Given the description of an element on the screen output the (x, y) to click on. 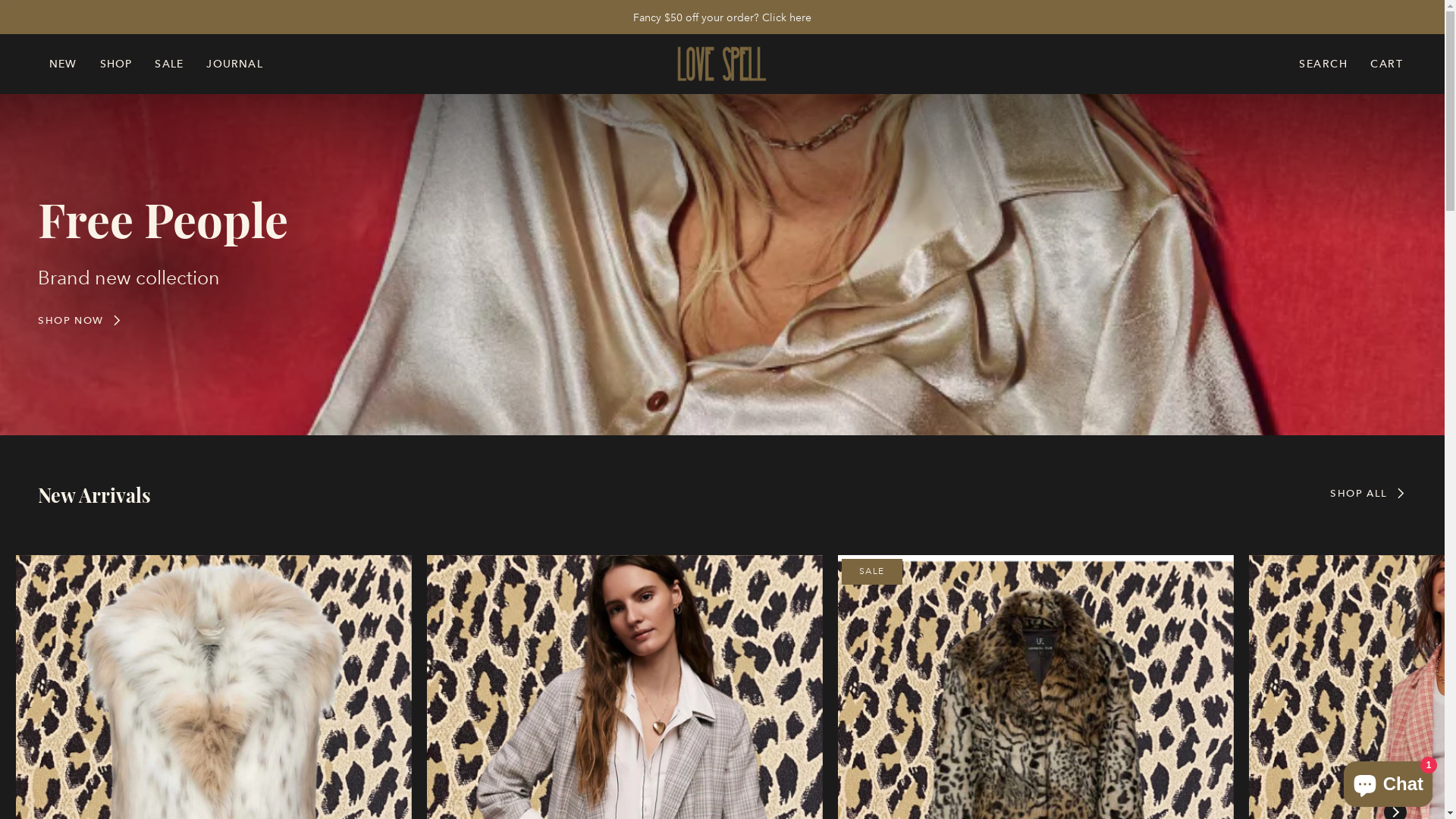
CART Element type: text (1386, 63)
NEW Element type: text (62, 63)
SHOP NOW Element type: text (79, 320)
SEARCH Element type: text (1322, 63)
JOURNAL Element type: text (233, 63)
SALE Element type: text (168, 63)
SHOP Element type: text (116, 63)
SHOP ALL Element type: text (1368, 492)
Shopify online store chat Element type: hover (1388, 780)
